Given the description of an element on the screen output the (x, y) to click on. 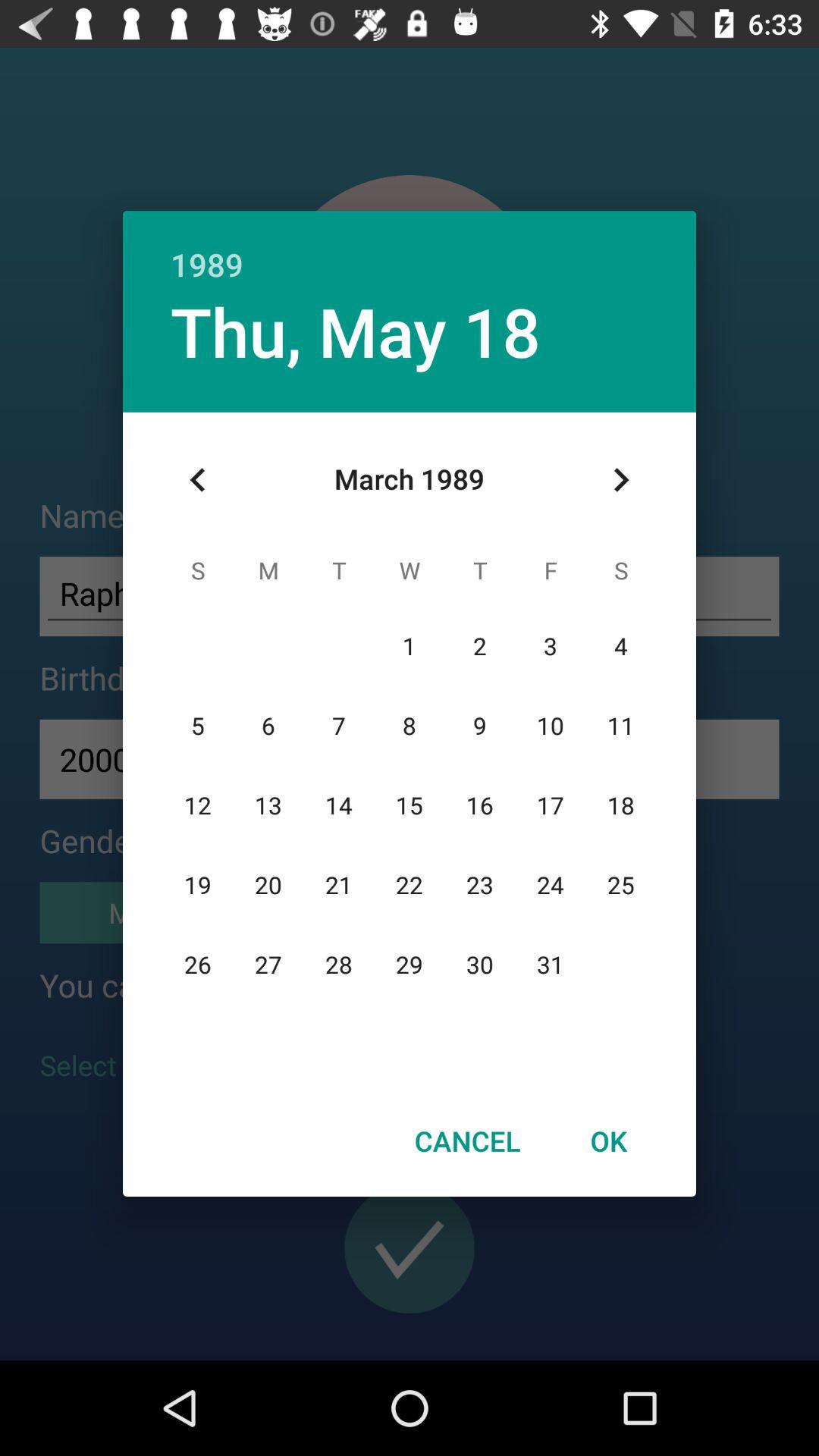
press the thu, may 18 item (355, 331)
